Given the description of an element on the screen output the (x, y) to click on. 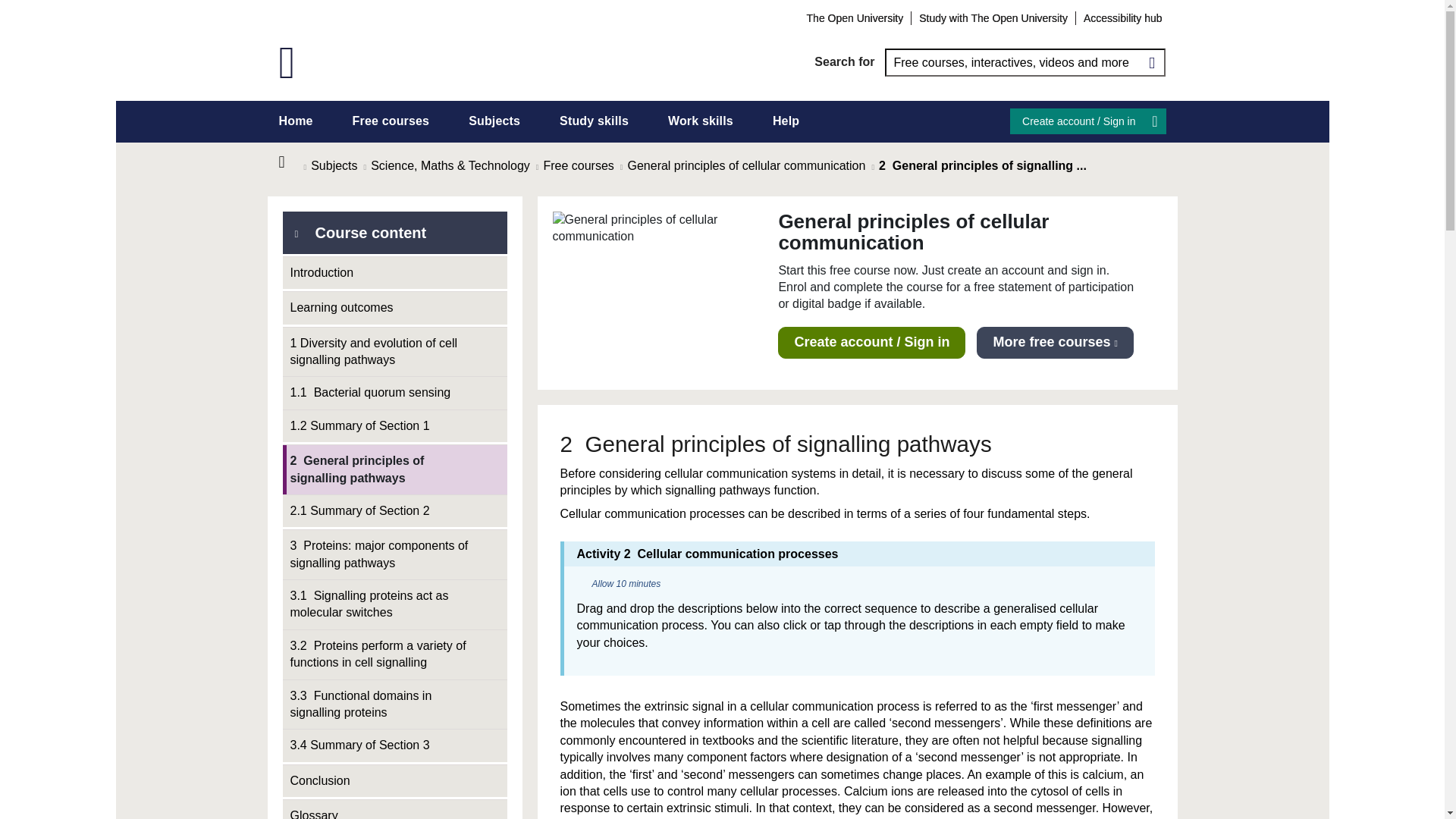
Home (296, 120)
Work skills (700, 120)
Home (291, 162)
Accessibility hub (1123, 17)
Study with The Open University (993, 17)
Help (786, 120)
Search (1151, 62)
The Open University (855, 17)
Study skills (593, 120)
Free courses (390, 120)
Subjects (493, 120)
